Given the description of an element on the screen output the (x, y) to click on. 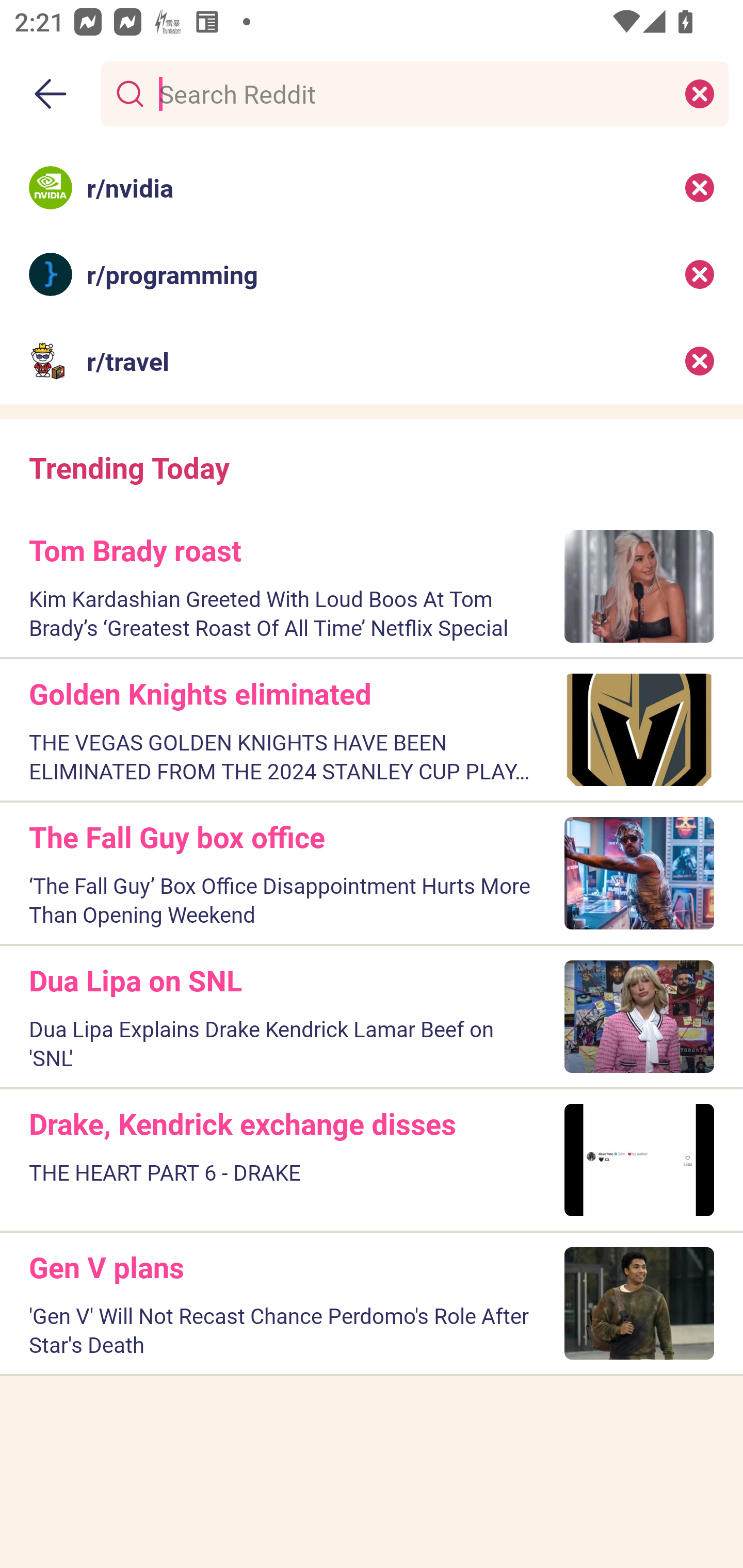
Back (50, 93)
Search Reddit (410, 93)
Clear search (699, 93)
r/nvidia Recent search: r/nvidia Remove (371, 187)
Remove (699, 187)
r/programming Recent search: r/programming Remove (371, 274)
Remove (699, 274)
r/travel Recent search: r/travel Remove (371, 361)
Remove (699, 361)
